Given the description of an element on the screen output the (x, y) to click on. 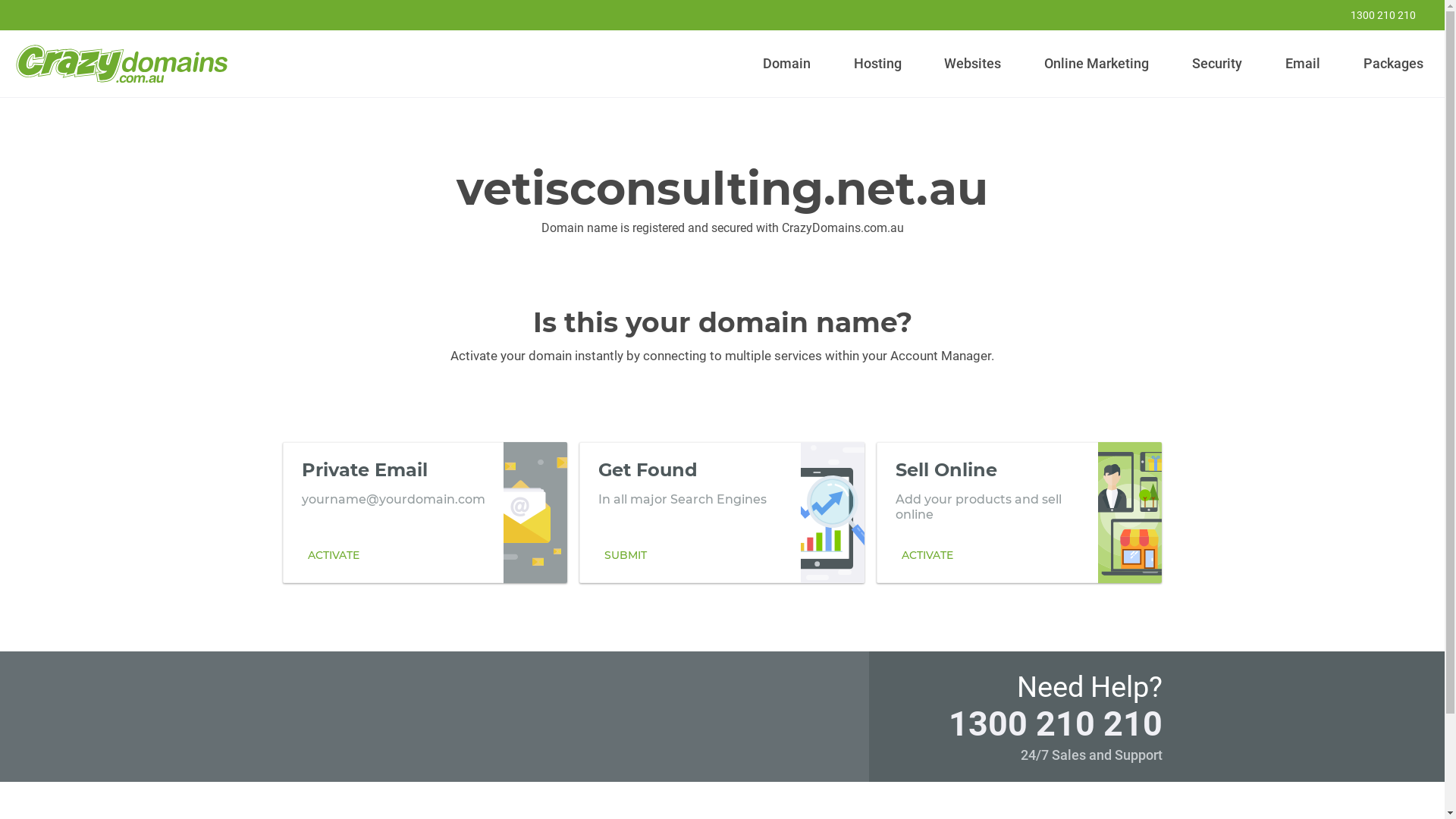
Online Marketing Element type: text (1096, 63)
Email Element type: text (1302, 63)
Domain Element type: text (786, 63)
Packages Element type: text (1392, 63)
1300 210 210 Element type: text (1373, 15)
Websites Element type: text (972, 63)
Private Email
yourname@yourdomain.com
ACTIVATE Element type: text (424, 511)
1300 210 210 Element type: text (1054, 723)
Hosting Element type: text (877, 63)
Sell Online
Add your products and sell online
ACTIVATE Element type: text (1018, 511)
Get Found
In all major Search Engines
SUBMIT Element type: text (721, 511)
Security Element type: text (1217, 63)
